Given the description of an element on the screen output the (x, y) to click on. 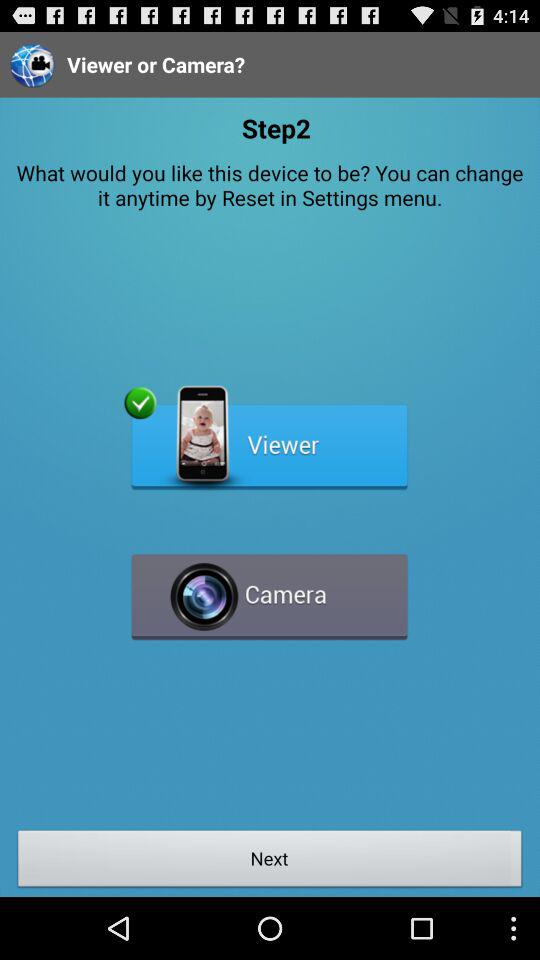
turn off the item below what would you item (269, 438)
